Given the description of an element on the screen output the (x, y) to click on. 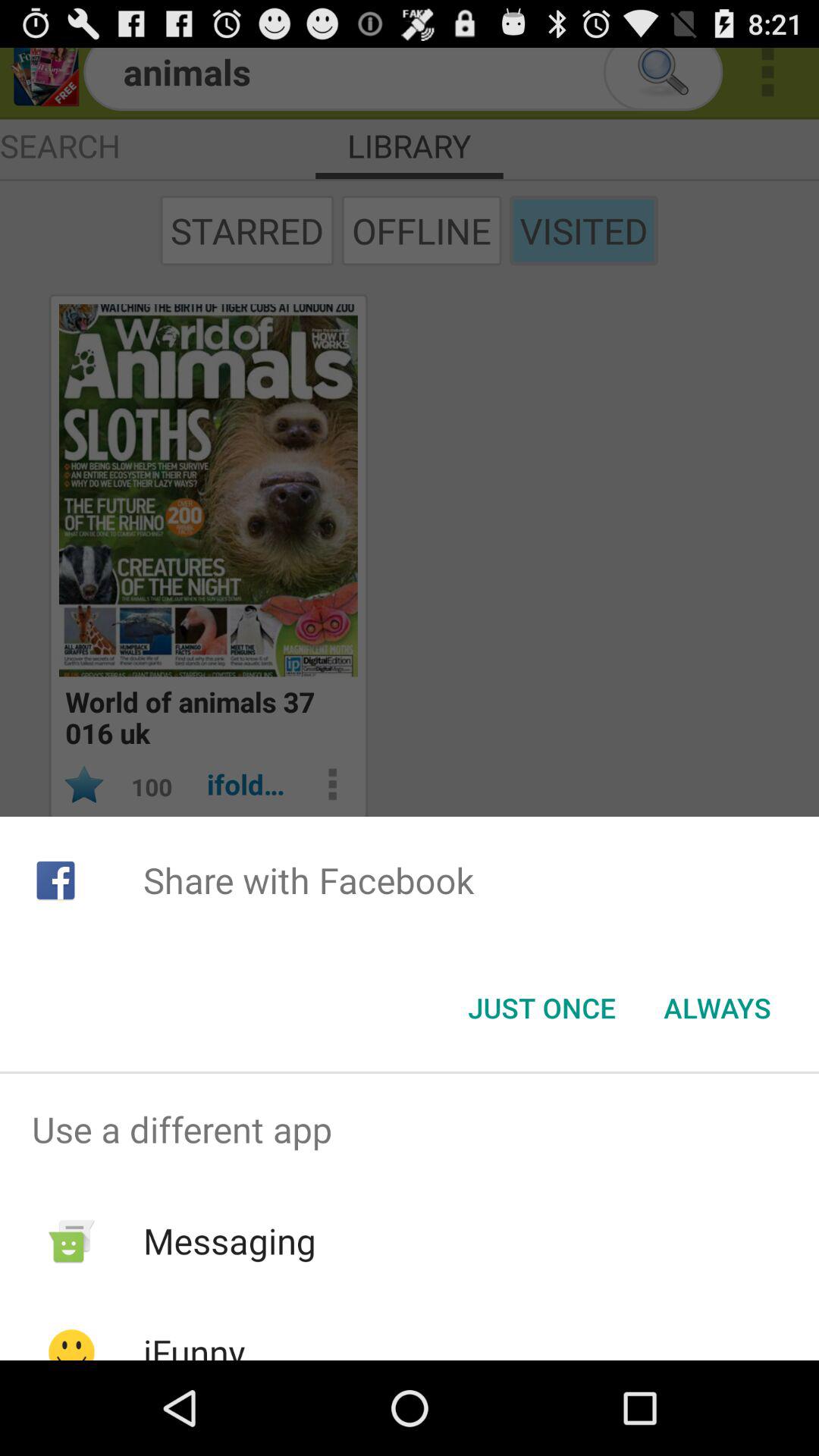
scroll to ifunny app (194, 1344)
